Given the description of an element on the screen output the (x, y) to click on. 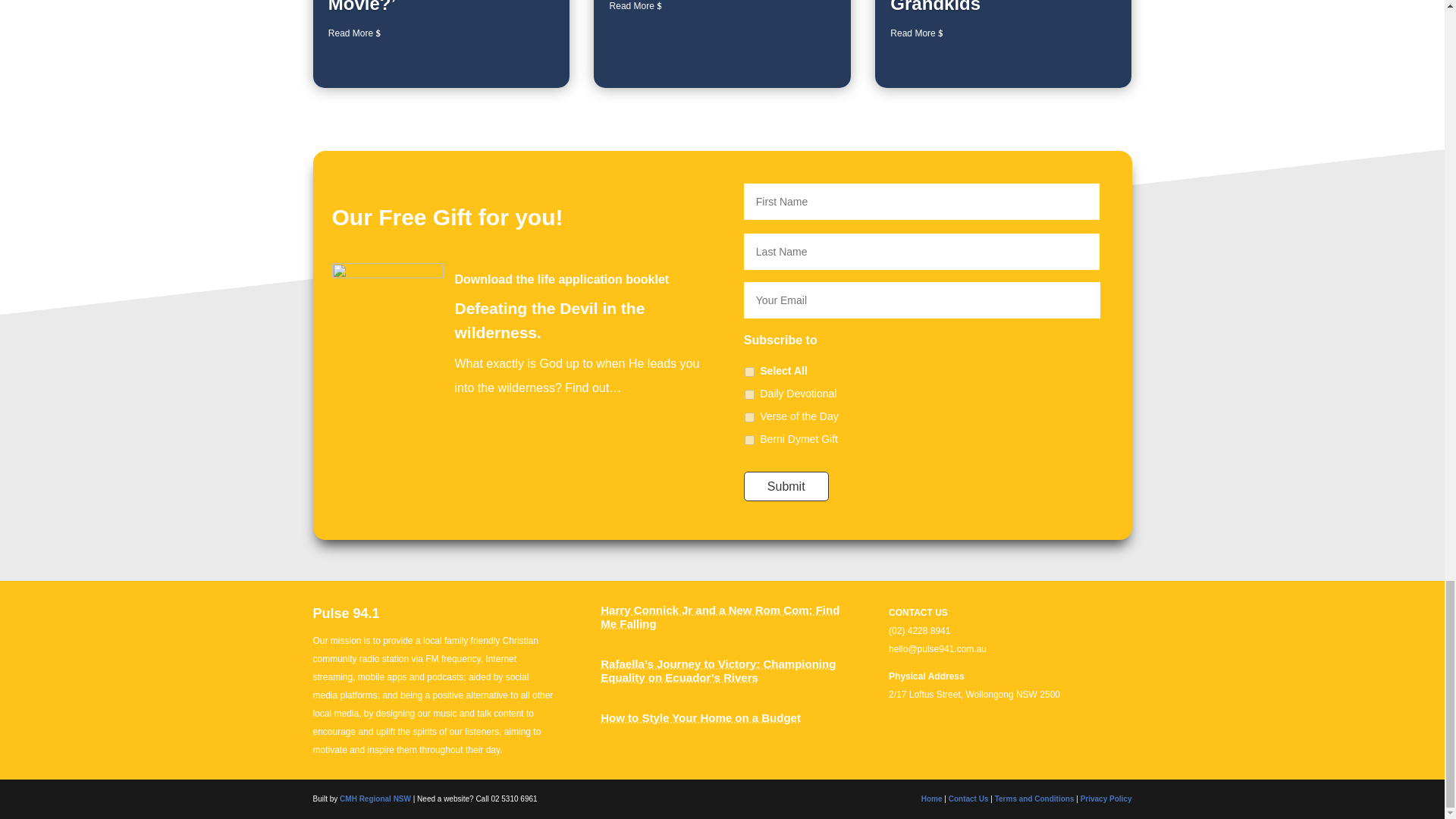
on (749, 371)
Verse of the Day (749, 417)
Daily Devotional (749, 394)
Submit (786, 486)
Berni Dymet Gift (749, 439)
